Given the description of an element on the screen output the (x, y) to click on. 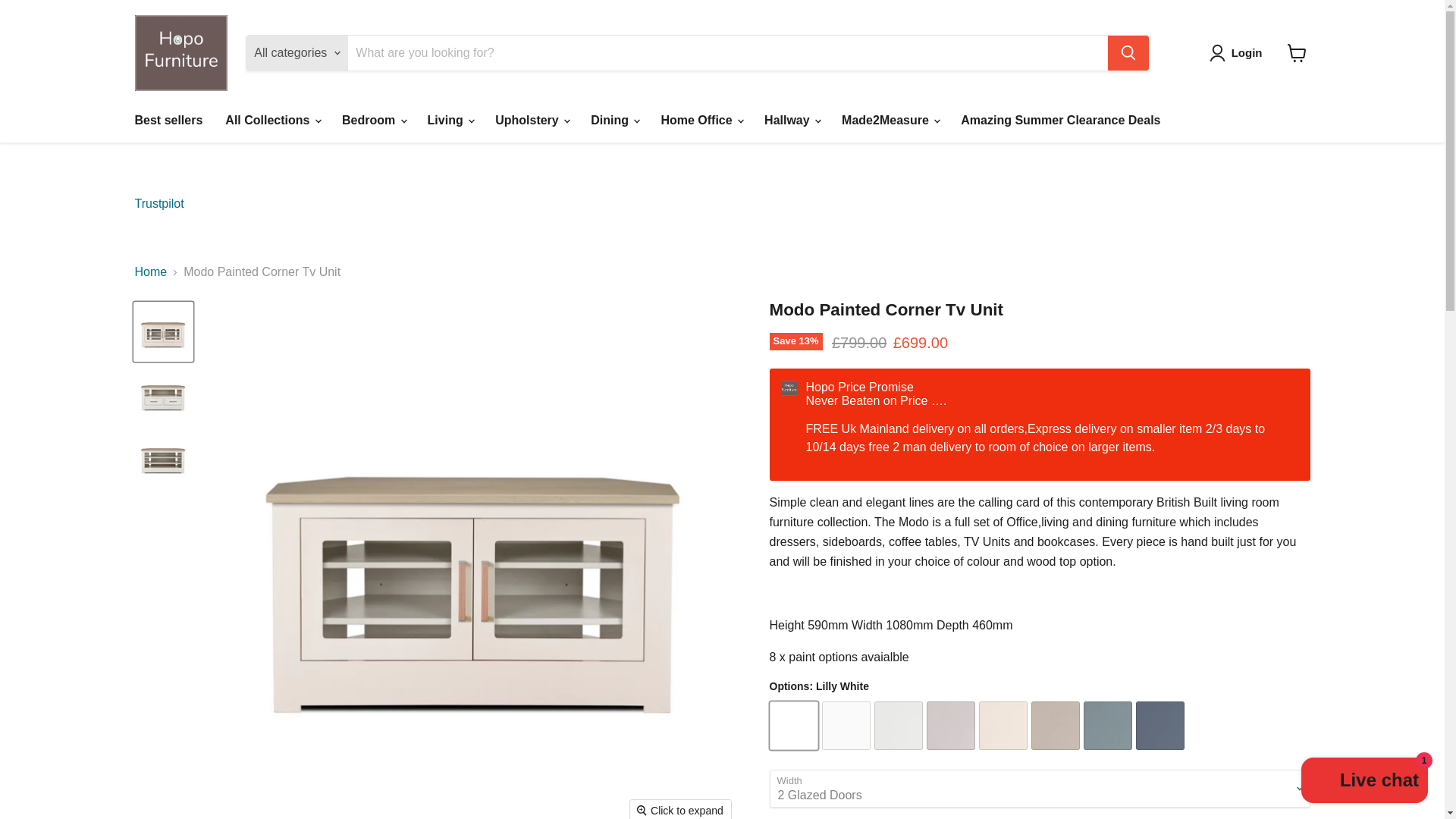
Best sellers (168, 120)
View cart (1296, 52)
Login (1238, 53)
Shopify online store chat (1364, 781)
